Given the description of an element on the screen output the (x, y) to click on. 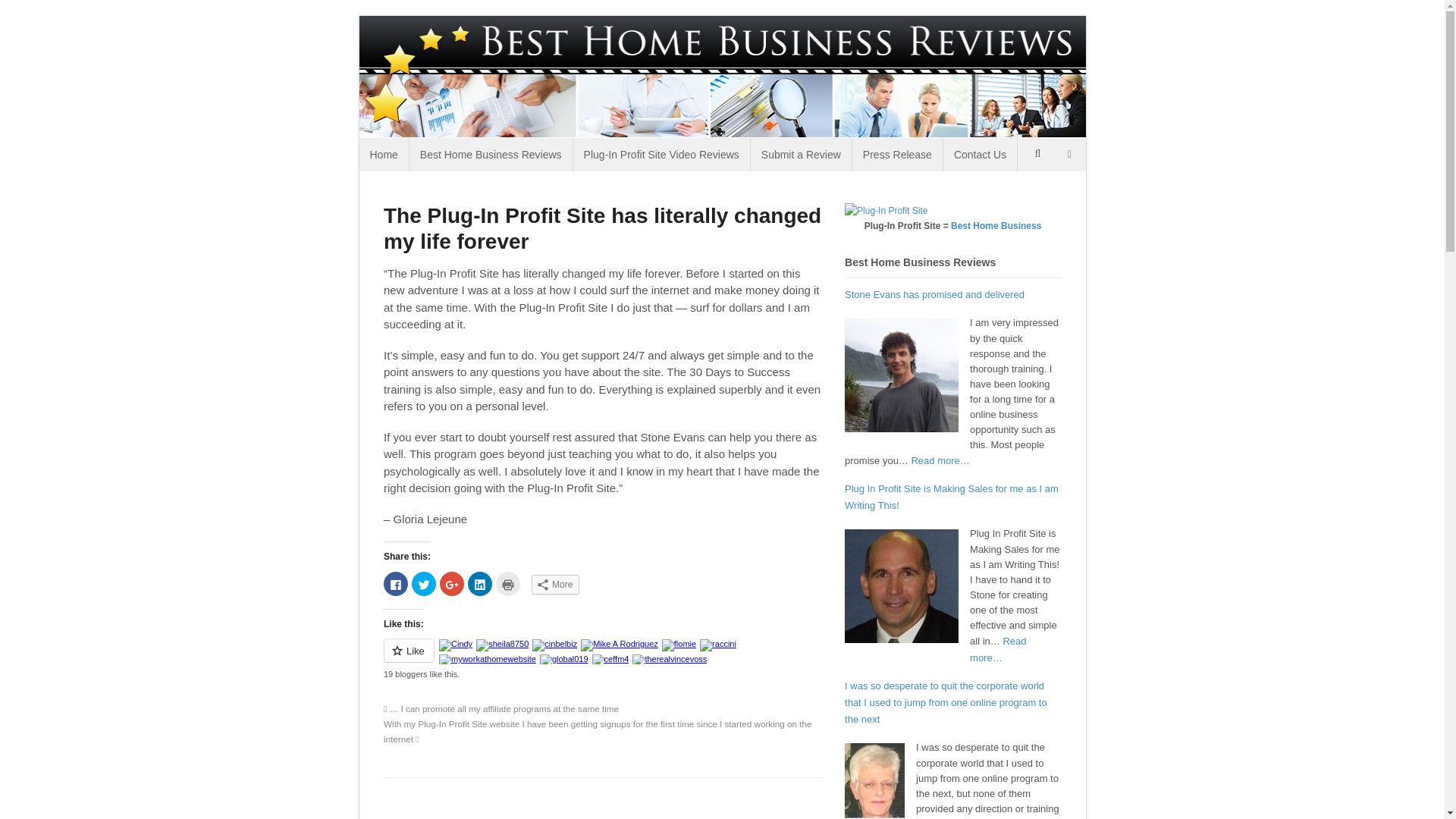
Best Home Business Reviews (490, 154)
Submit a Review (801, 154)
Best Home Business (995, 225)
Click to share on Twitter (423, 583)
Click to share on Facebook (395, 583)
Press Release (896, 154)
Search (1039, 192)
Home (384, 154)
Click to share on LinkedIn (479, 583)
Stone Evans has promised and delivered (934, 294)
More (555, 584)
Plug-In Profit Site Video Reviews (661, 154)
Contact Us (979, 154)
